Given the description of an element on the screen output the (x, y) to click on. 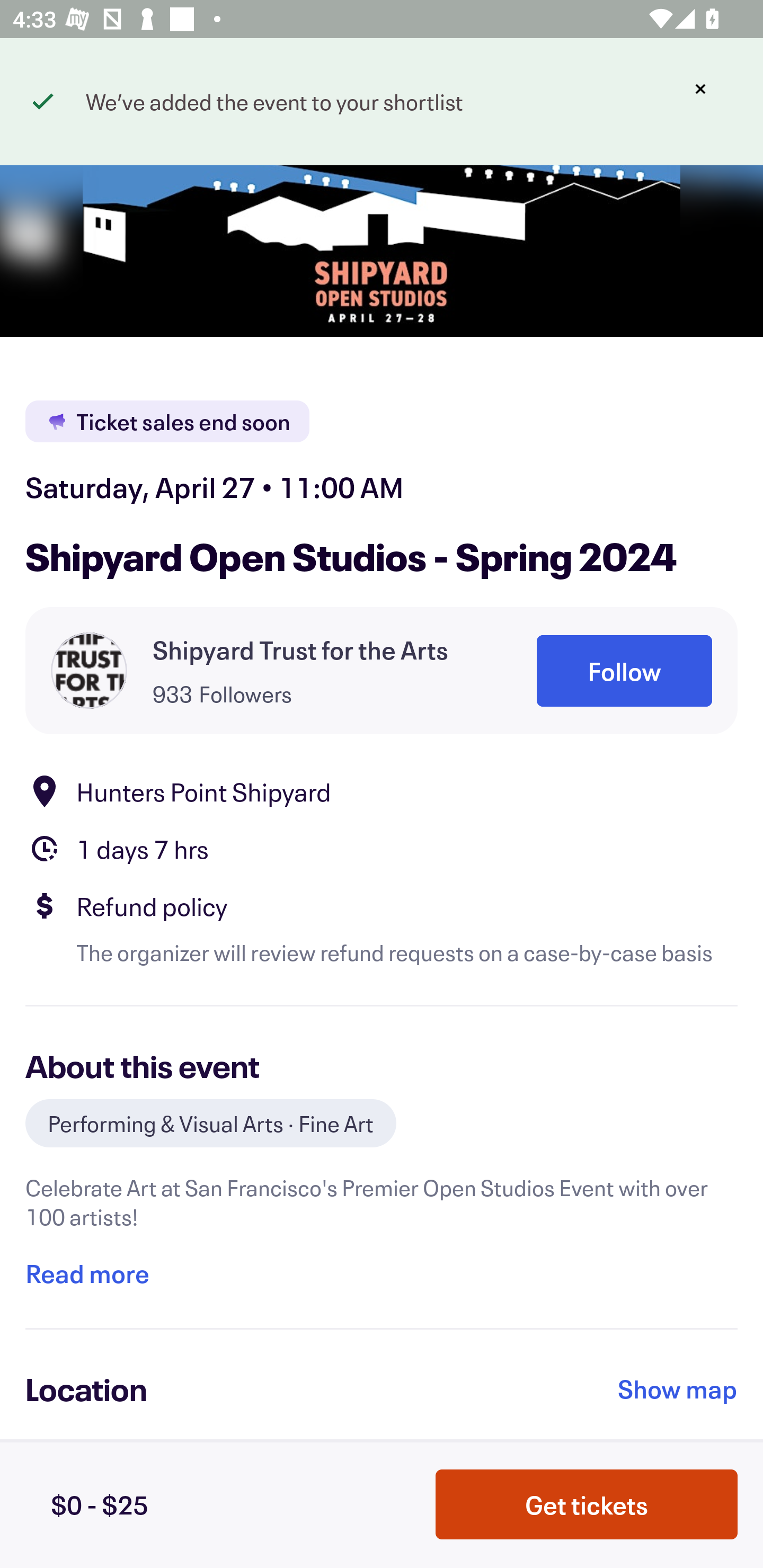
Dismiss notification (700, 89)
Back (57, 94)
More (629, 94)
Share (705, 94)
Shipyard Trust for the Arts (300, 649)
Organizer profile picture (89, 669)
Follow (623, 670)
Location Hunters Point Shipyard (381, 790)
Read more (87, 1272)
Show map (677, 1388)
Get tickets (586, 1504)
